Given the description of an element on the screen output the (x, y) to click on. 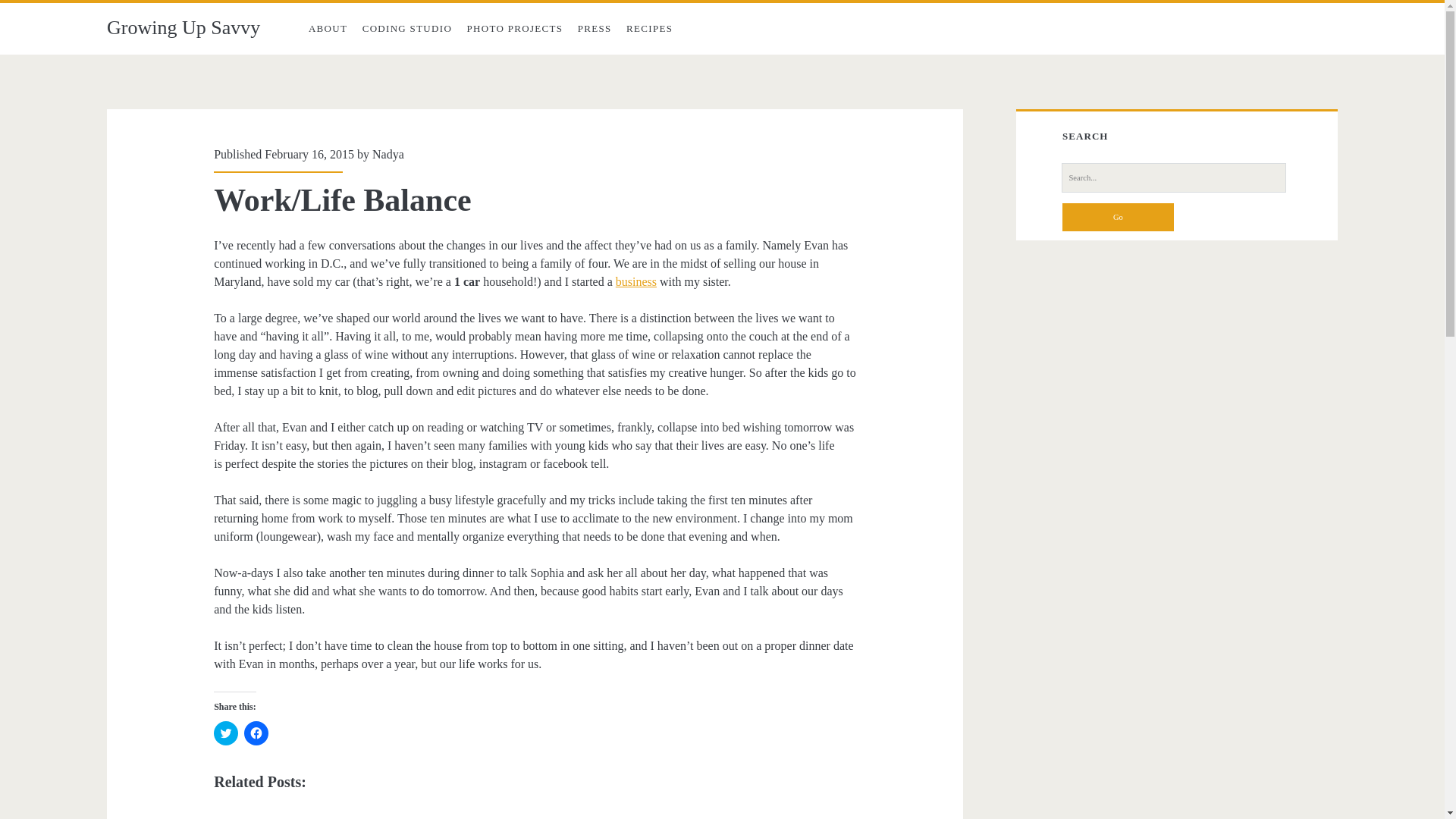
ABOUT (328, 28)
Growing Up Savvy (183, 27)
Click to share on Facebook (255, 733)
Search for: (1173, 176)
Go (1117, 216)
PRESS (594, 28)
Click to share on Twitter (226, 733)
RECIPES (648, 28)
Go (1117, 216)
CODING STUDIO (407, 28)
Posts by Nadya (388, 154)
PHOTO PROJECTS (515, 28)
